Given the description of an element on the screen output the (x, y) to click on. 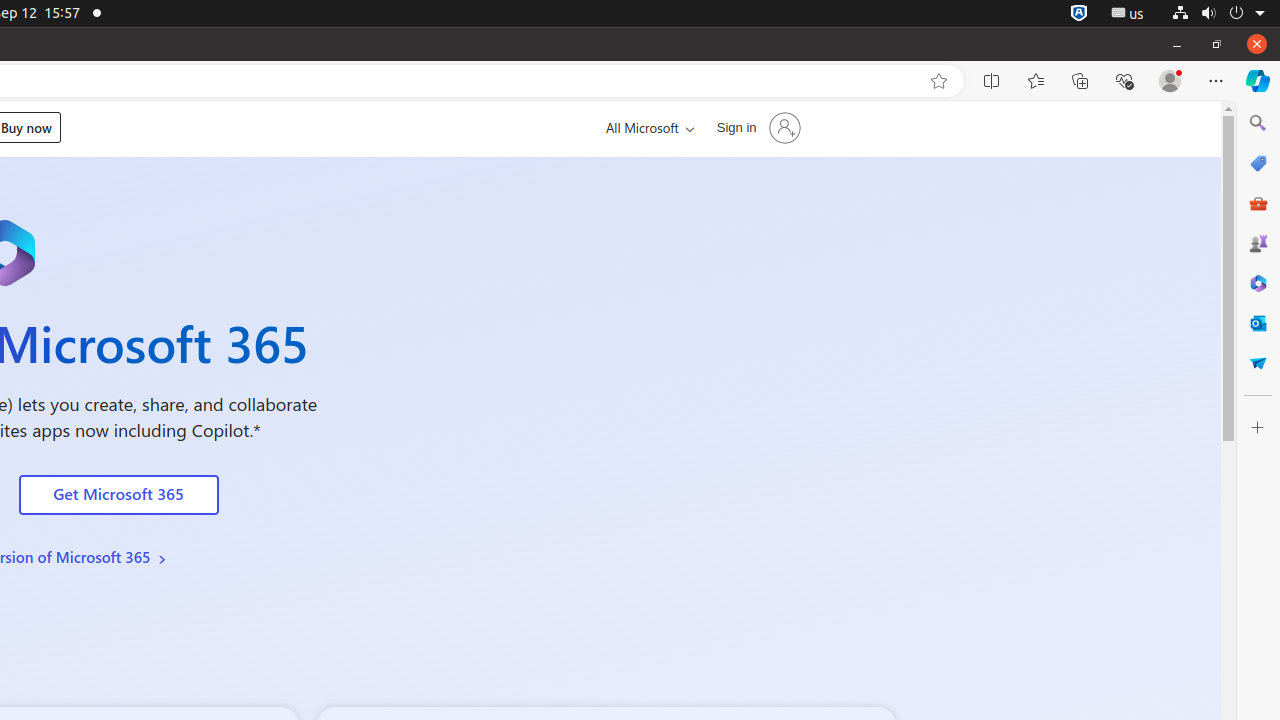
Outlook Element type: push-button (1258, 323)
Drop Element type: push-button (1258, 363)
Games Element type: push-button (1258, 243)
Sign in to your account Element type: link (756, 127)
Get Microsoft 365 Element type: push-button (118, 495)
